Given the description of an element on the screen output the (x, y) to click on. 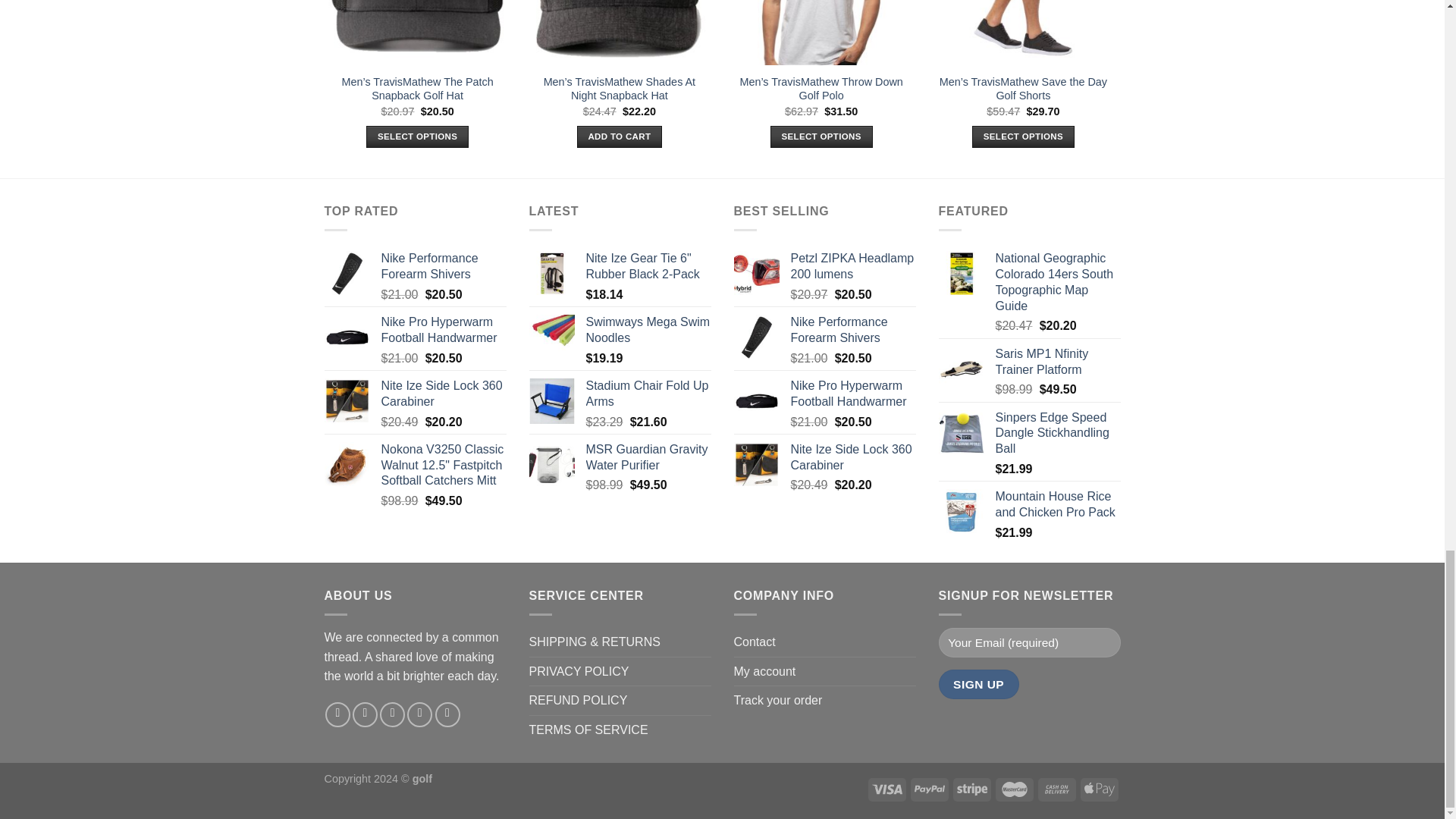
Follow on Facebook (337, 714)
Sign Up (979, 684)
Follow on Instagram (364, 714)
